Given the description of an element on the screen output the (x, y) to click on. 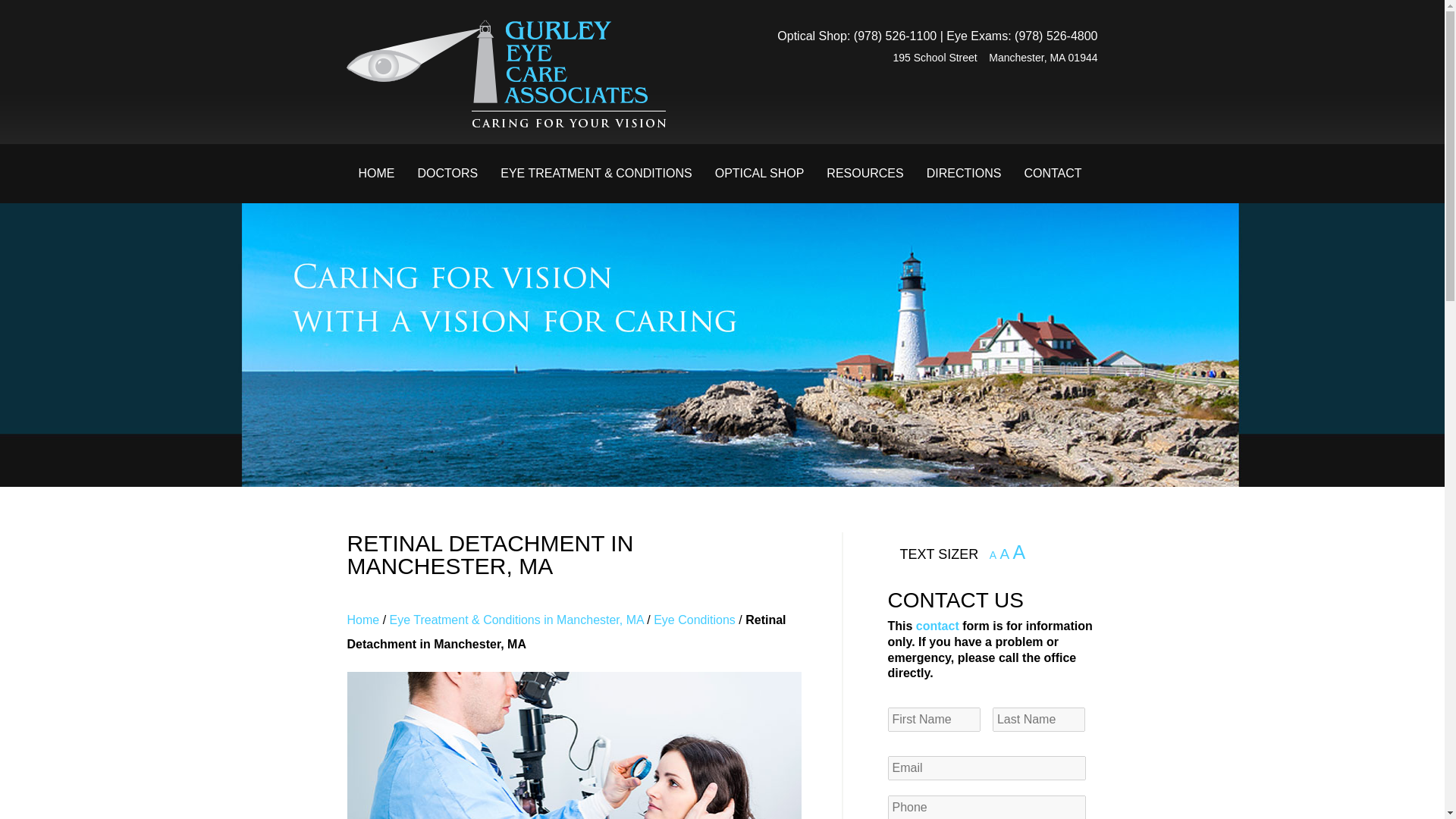
HOME (376, 173)
Home (363, 619)
OPTICAL SHOP (759, 173)
CONTACT (1052, 173)
DOCTORS (447, 173)
DIRECTIONS (964, 173)
195 School Street    Manchester, MA 01944 (889, 57)
RESOURCES (864, 173)
